Given the description of an element on the screen output the (x, y) to click on. 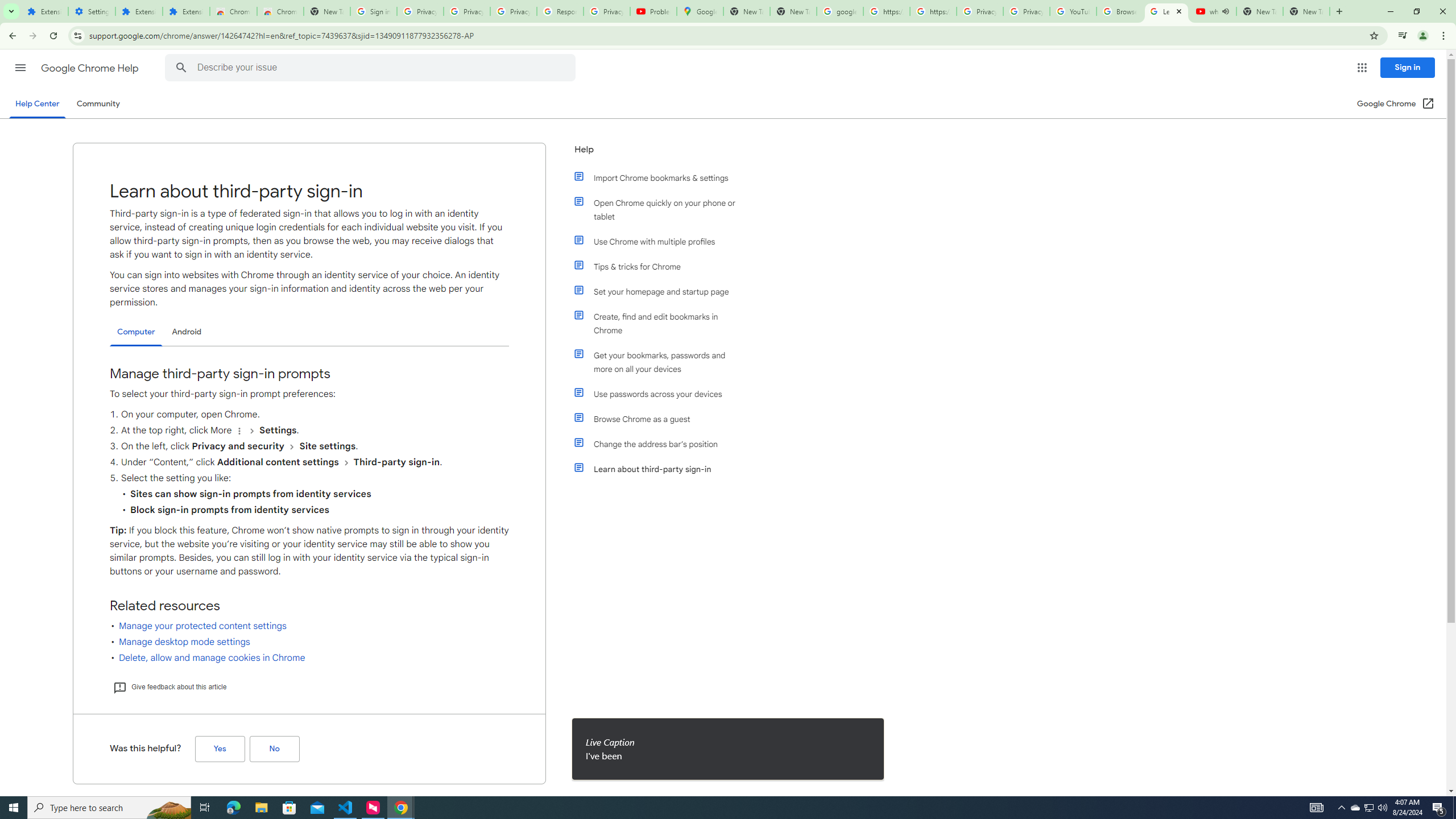
and then (345, 462)
Extensions (44, 11)
Extensions (138, 11)
New Tab (1306, 11)
Google Chrome (Open in a new window) (1395, 103)
No (Was this helpful?) (273, 749)
Open Chrome quickly on your phone or tablet (661, 209)
Create, find and edit bookmarks in Chrome (661, 323)
Delete, allow and manage cookies in Chrome (212, 657)
Use Chrome with multiple profiles (661, 241)
Give feedback about this article (169, 686)
Community (97, 103)
